Given the description of an element on the screen output the (x, y) to click on. 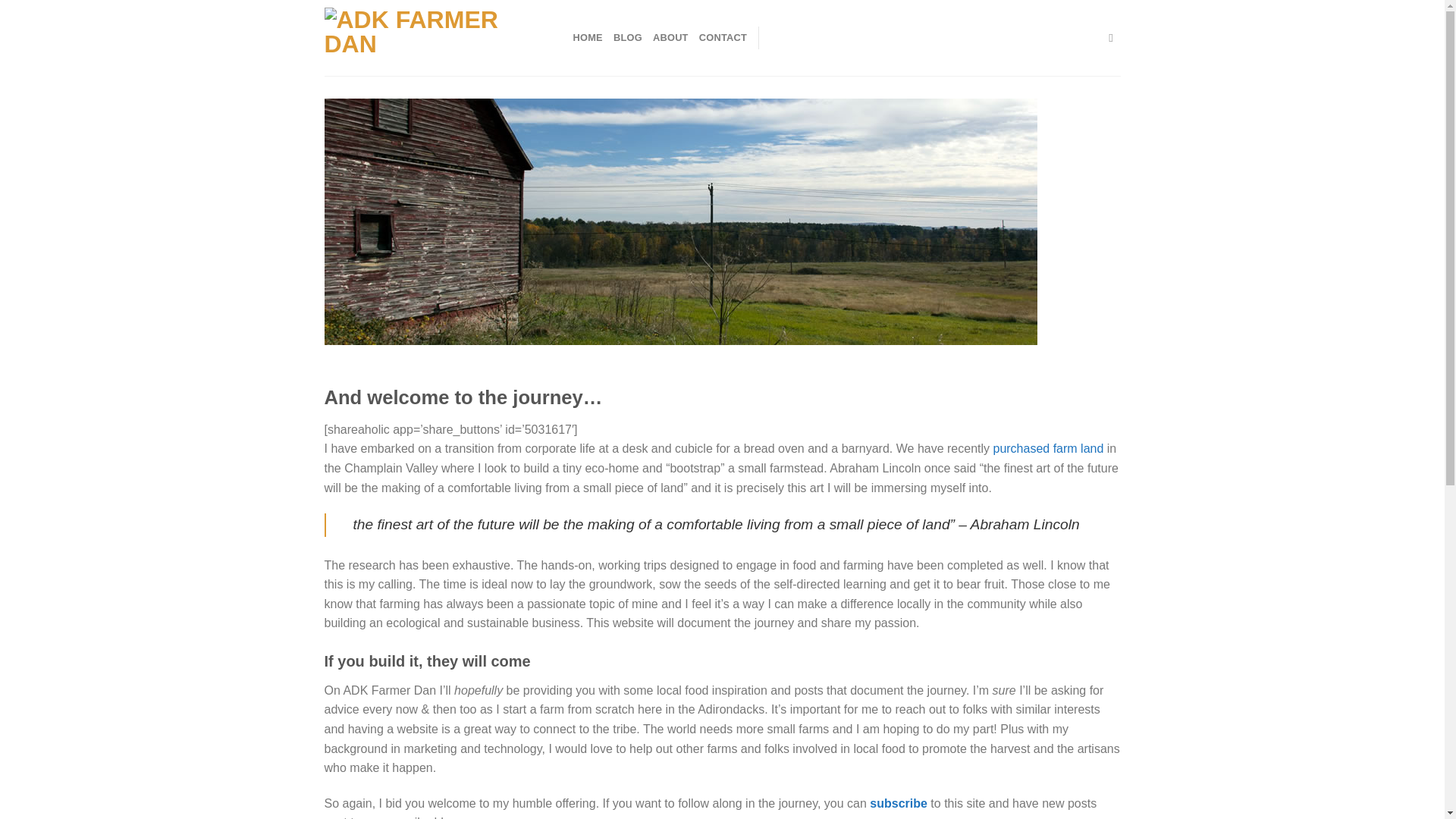
CONTACT (722, 37)
subscribe (898, 802)
ABOUT (670, 37)
BLOG (627, 37)
purchased farm land (1047, 448)
Sign up (898, 802)
HOME (587, 37)
Our Future Farm (1047, 448)
